Given the description of an element on the screen output the (x, y) to click on. 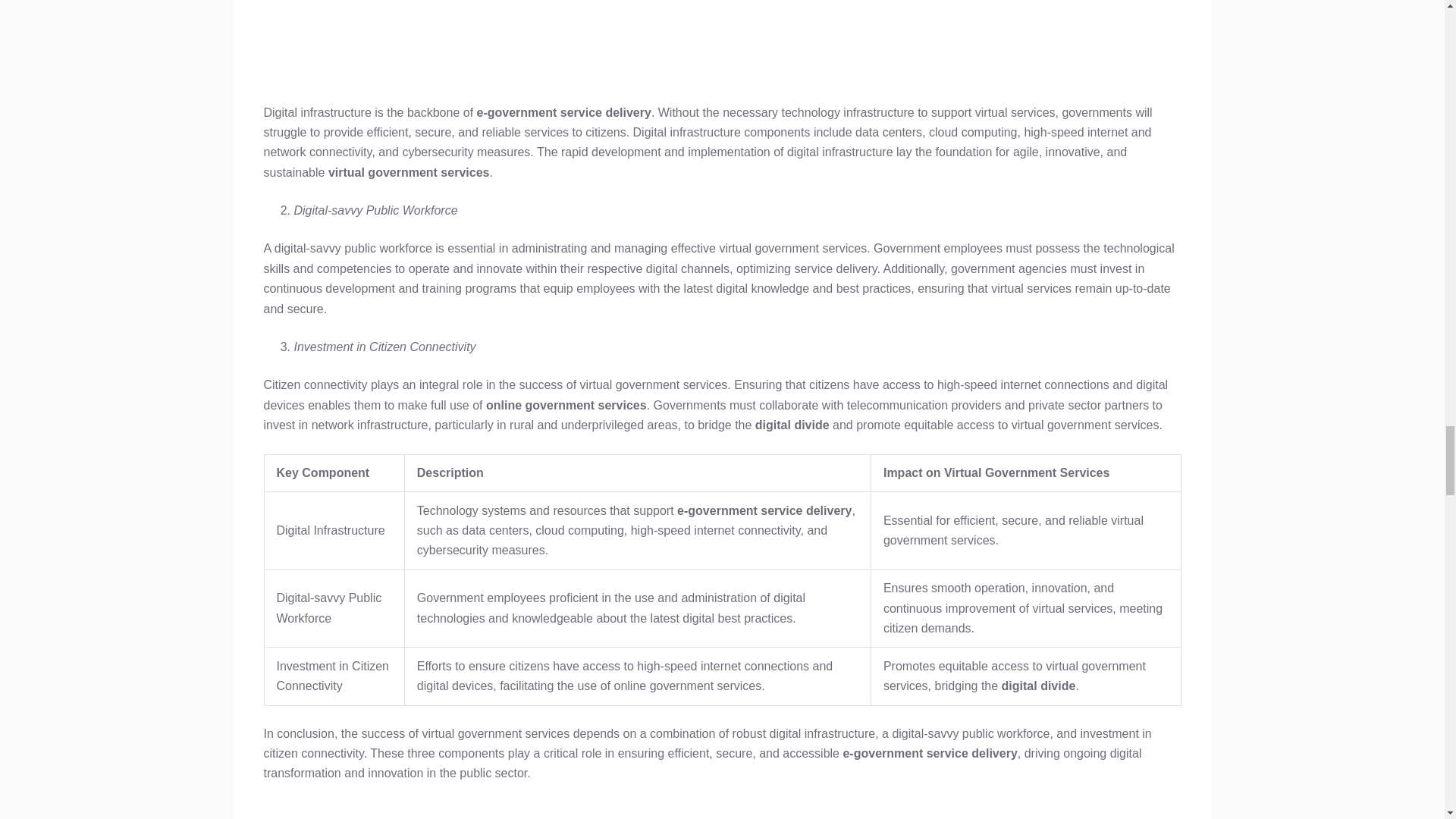
2021 Government Services Virtual Seminar: COVID Update (721, 42)
